Given the description of an element on the screen output the (x, y) to click on. 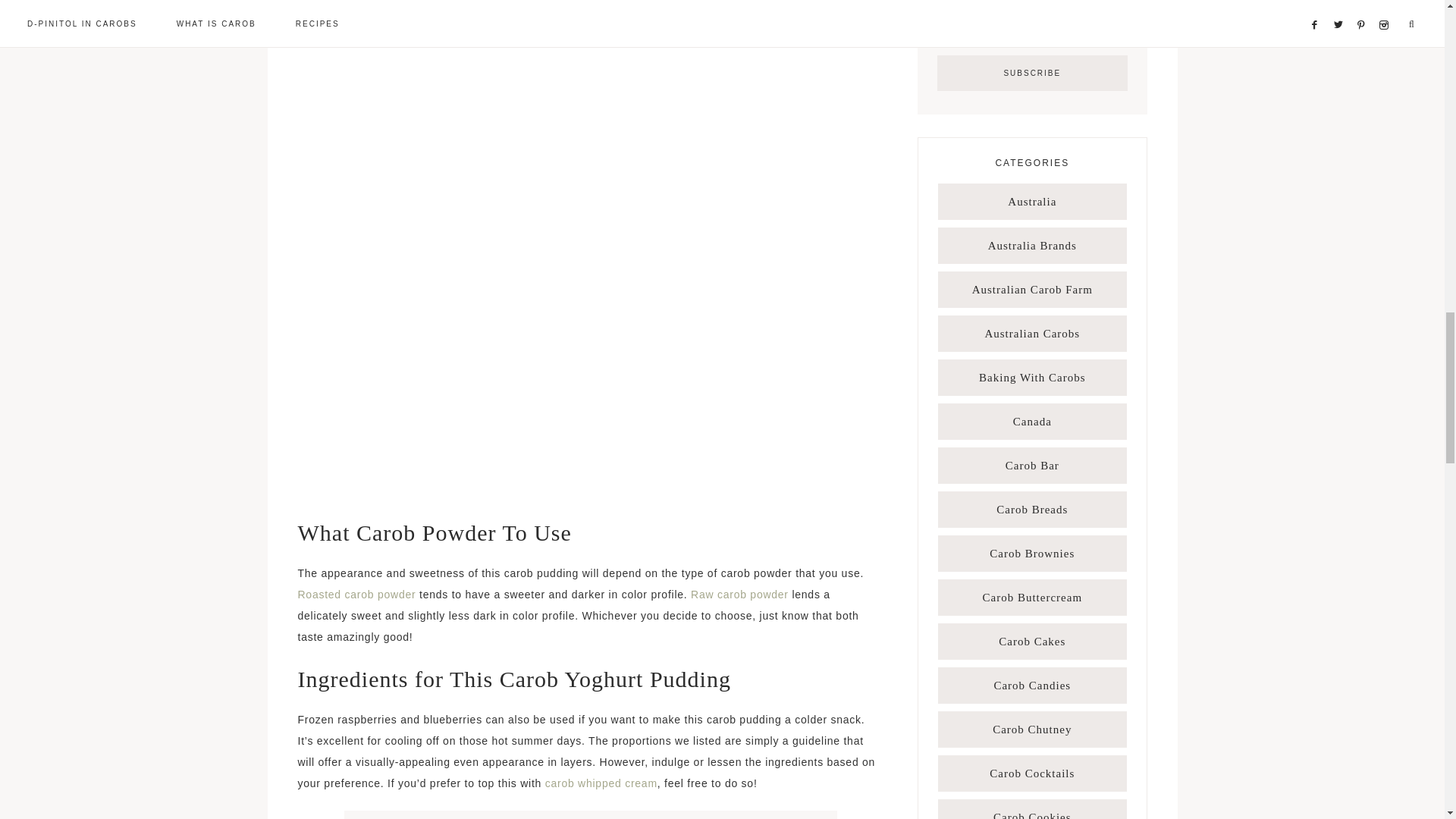
carob whipped cream (601, 783)
Raw carob powder (739, 594)
Roasted carob powder (355, 594)
Subscribe (1031, 72)
